Given the description of an element on the screen output the (x, y) to click on. 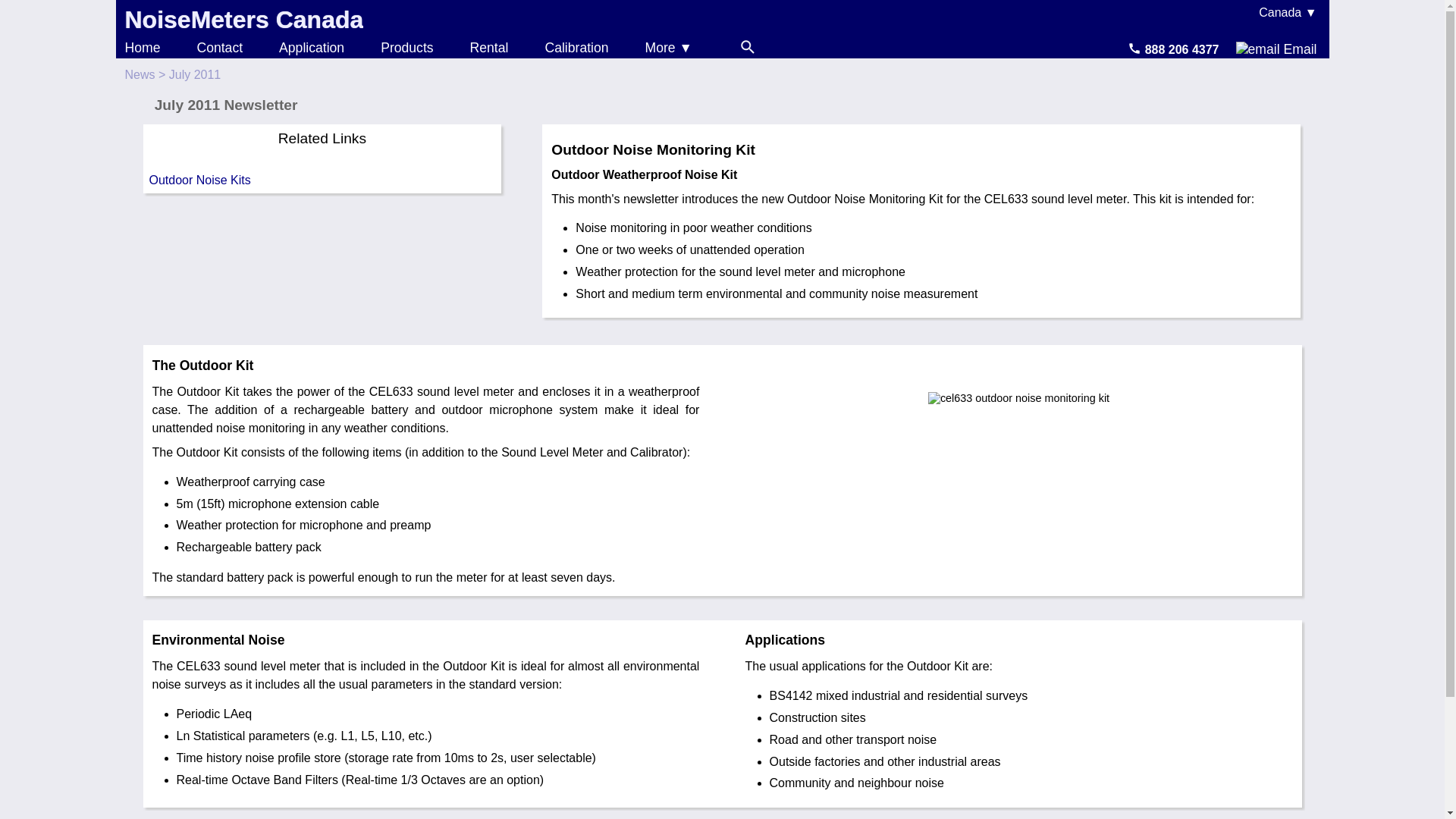
NoiseMeters Canada (242, 19)
Application (311, 47)
Products (406, 47)
Calibration (576, 47)
Rental (489, 47)
Contact (219, 47)
Outdoor Noise Kits (321, 180)
Search (747, 47)
News (138, 74)
Home (141, 47)
